Given the description of an element on the screen output the (x, y) to click on. 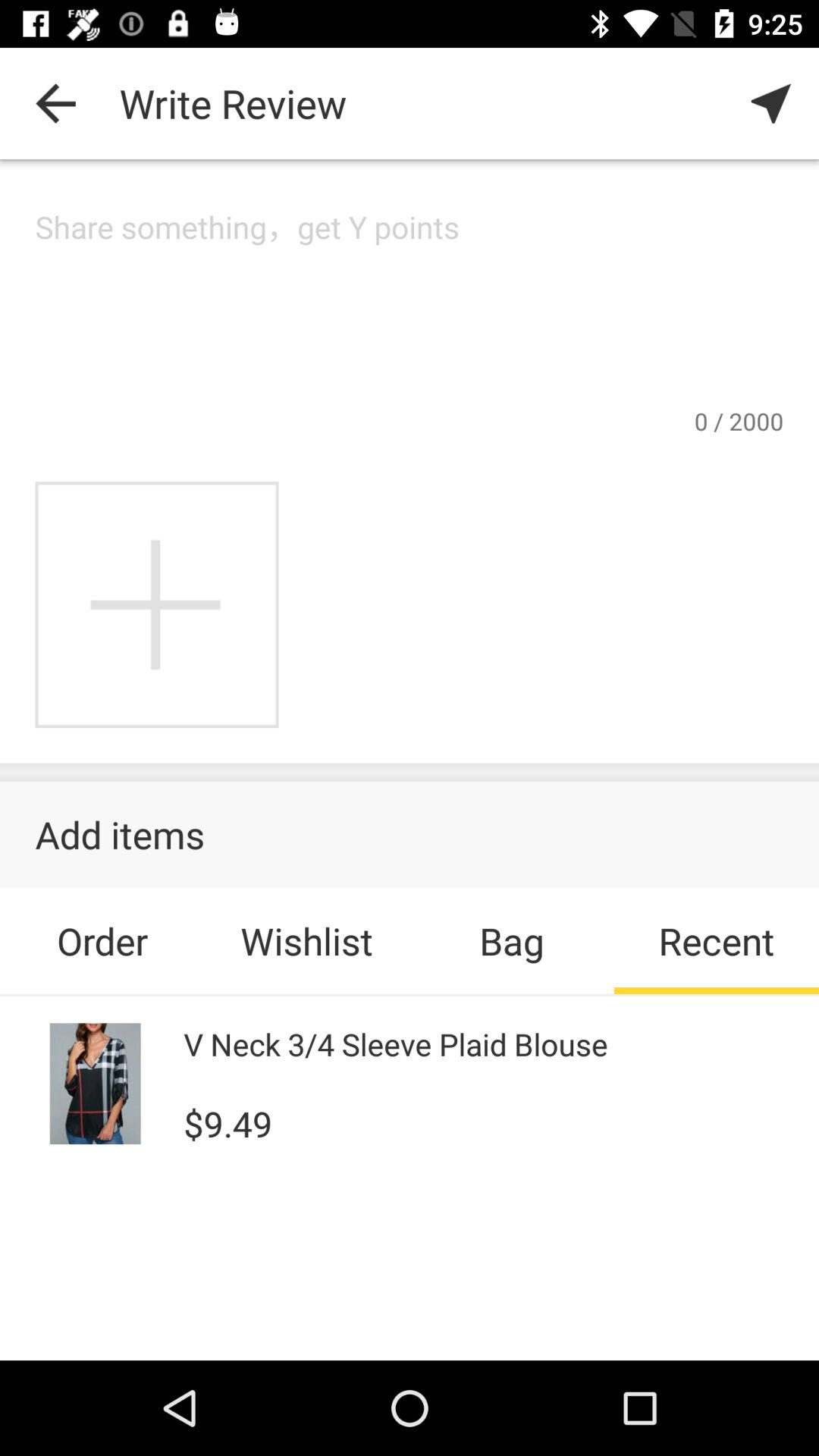
turn on the icon to the left of the write review item (55, 103)
